Given the description of an element on the screen output the (x, y) to click on. 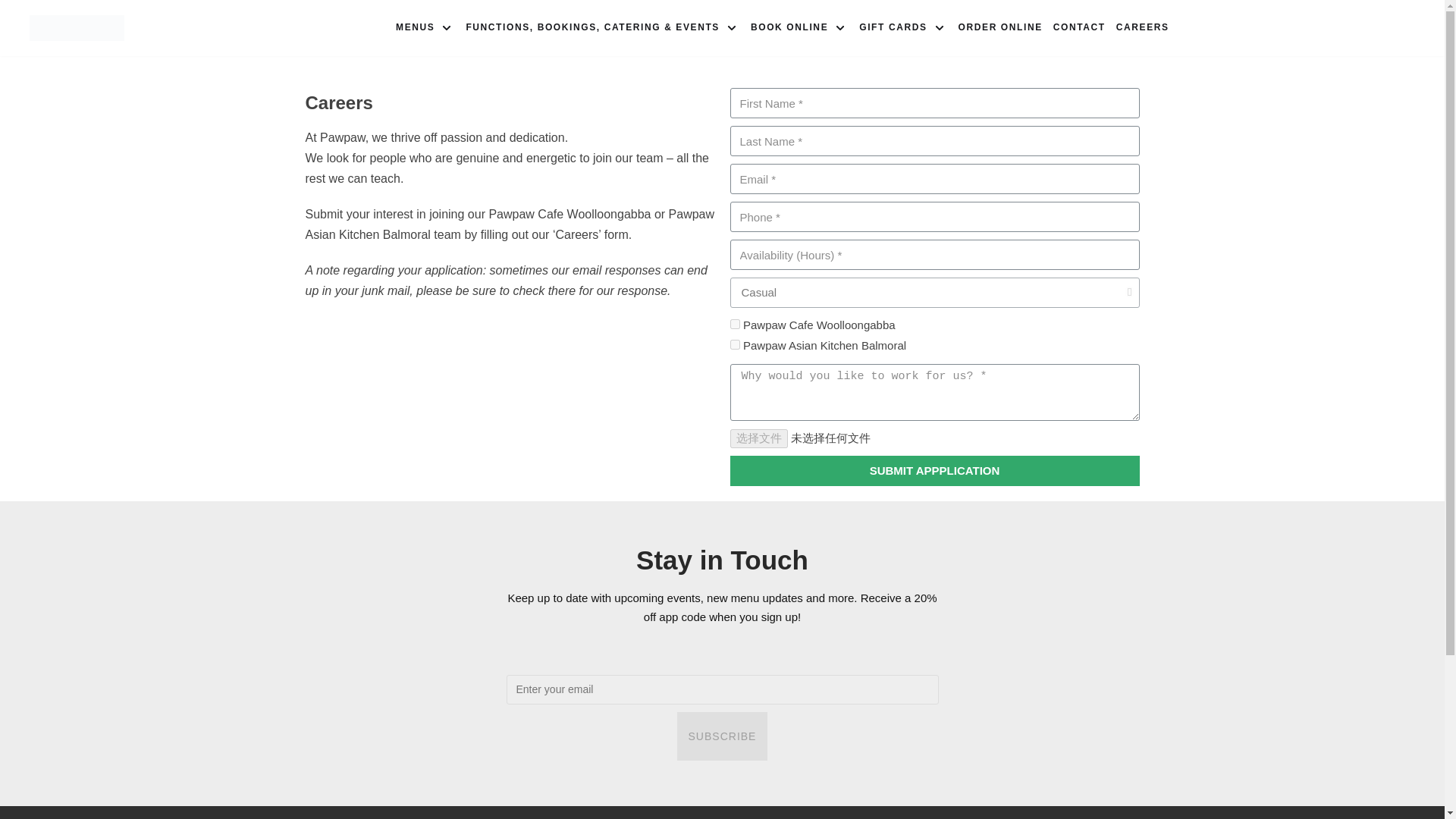
CAREERS (1142, 27)
GIFT CARDS (903, 27)
SUBMIT APPPLICATION (933, 470)
Pawpaw Asian Kitchen Balmoral (734, 344)
Pawpaw Cafe Woolloongabba (734, 324)
Pawpaw Cafe (76, 28)
BOOK ONLINE (799, 27)
MENUS (425, 27)
ORDER ONLINE (1000, 27)
Skip to content (15, 31)
